Given the description of an element on the screen output the (x, y) to click on. 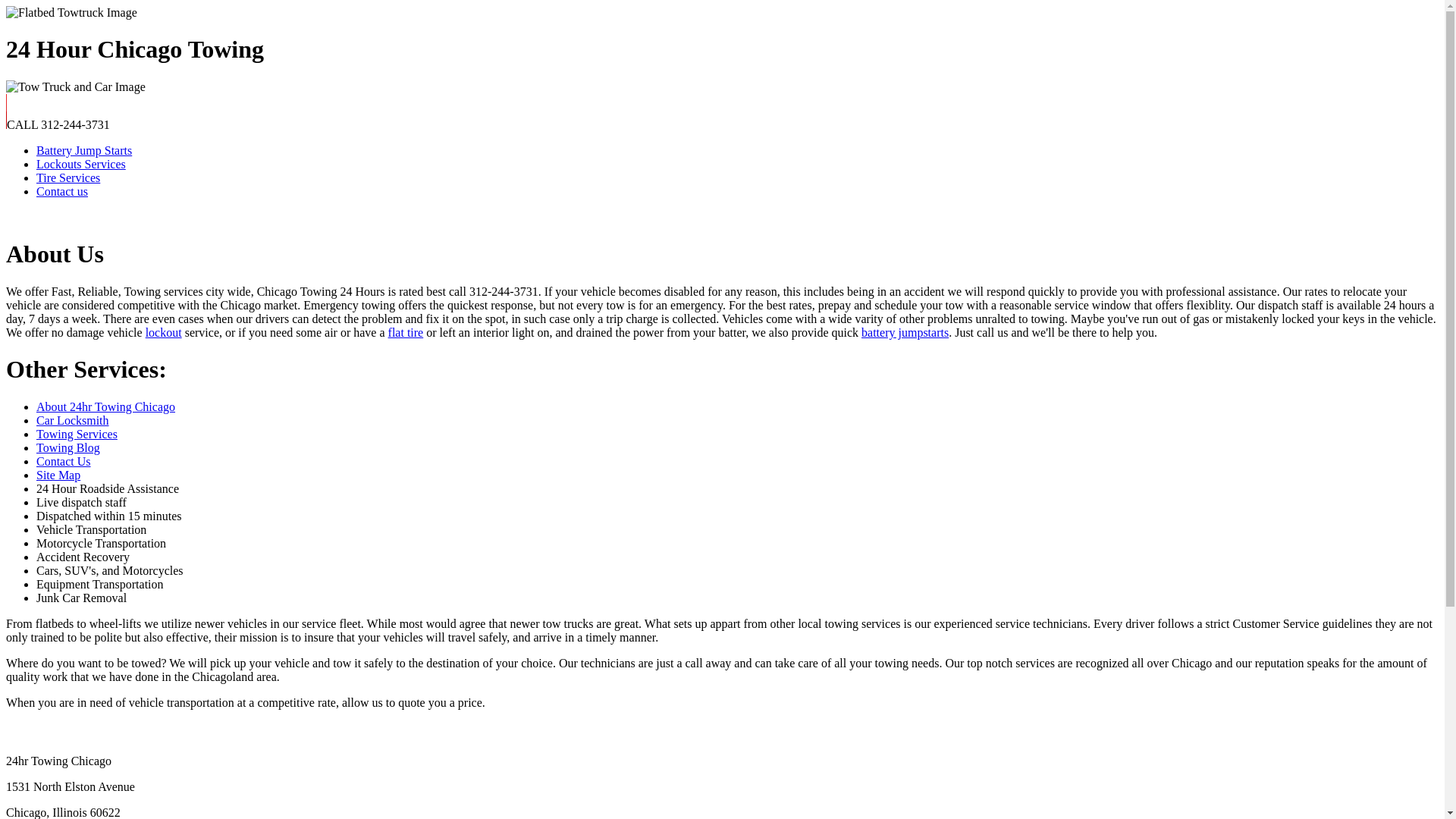
Car Locksmith Element type: text (72, 420)
battery jumpstarts Element type: text (904, 332)
flat tire Element type: text (405, 332)
lockout Element type: text (163, 332)
Towing Blog Element type: text (68, 447)
Towing Services Element type: text (76, 433)
Battery Jump Starts Element type: text (83, 150)
CALL 312-244-3731 Element type: text (57, 124)
Contact Us Element type: text (63, 461)
About 24hr Towing Chicago Element type: text (105, 406)
Contact us Element type: text (61, 191)
Site Map Element type: text (58, 474)
Lockouts Services Element type: text (80, 163)
Tire Services Element type: text (68, 177)
